Given the description of an element on the screen output the (x, y) to click on. 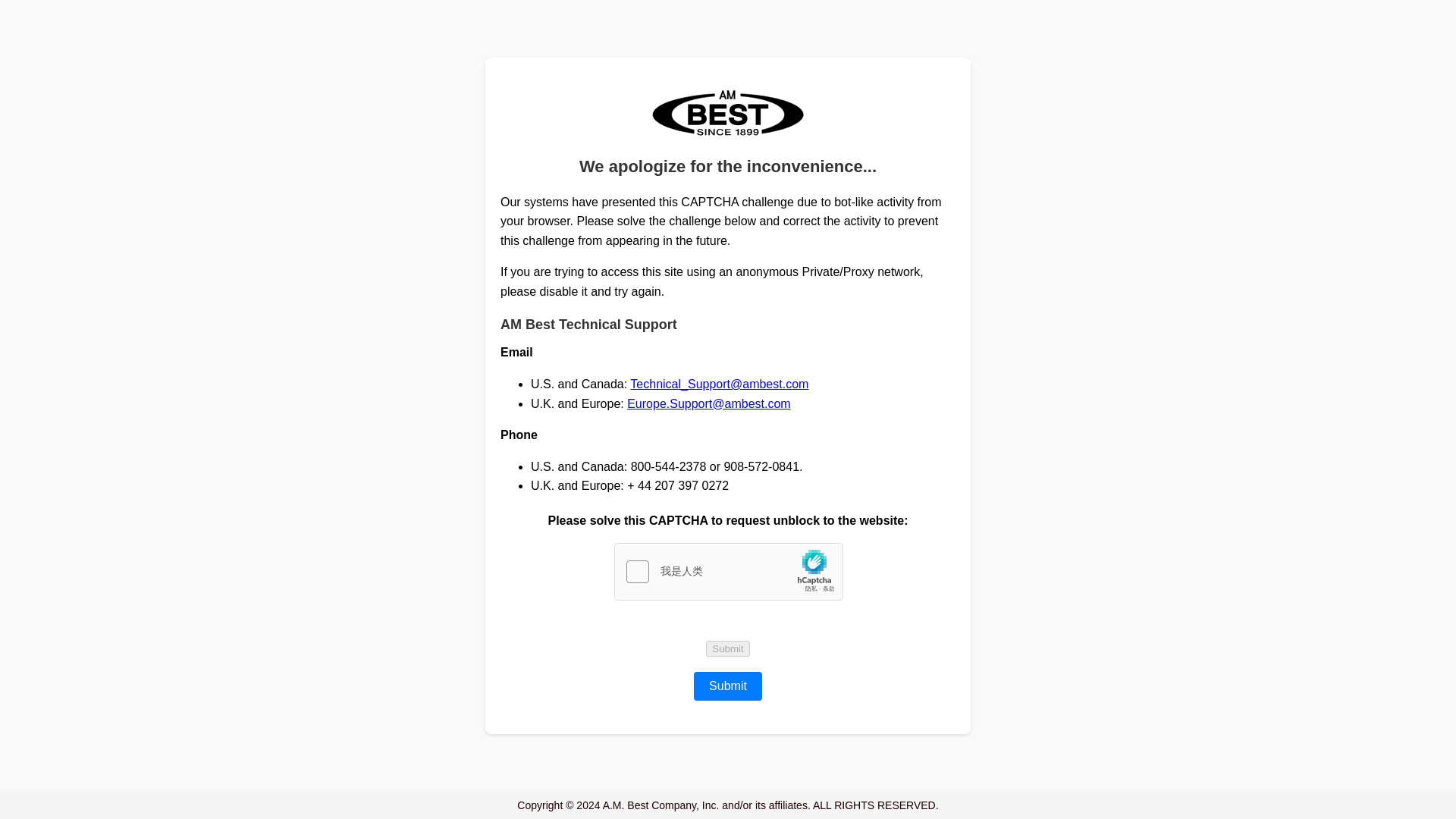
Submit (727, 648)
Submit (727, 686)
Submit (727, 648)
